Given the description of an element on the screen output the (x, y) to click on. 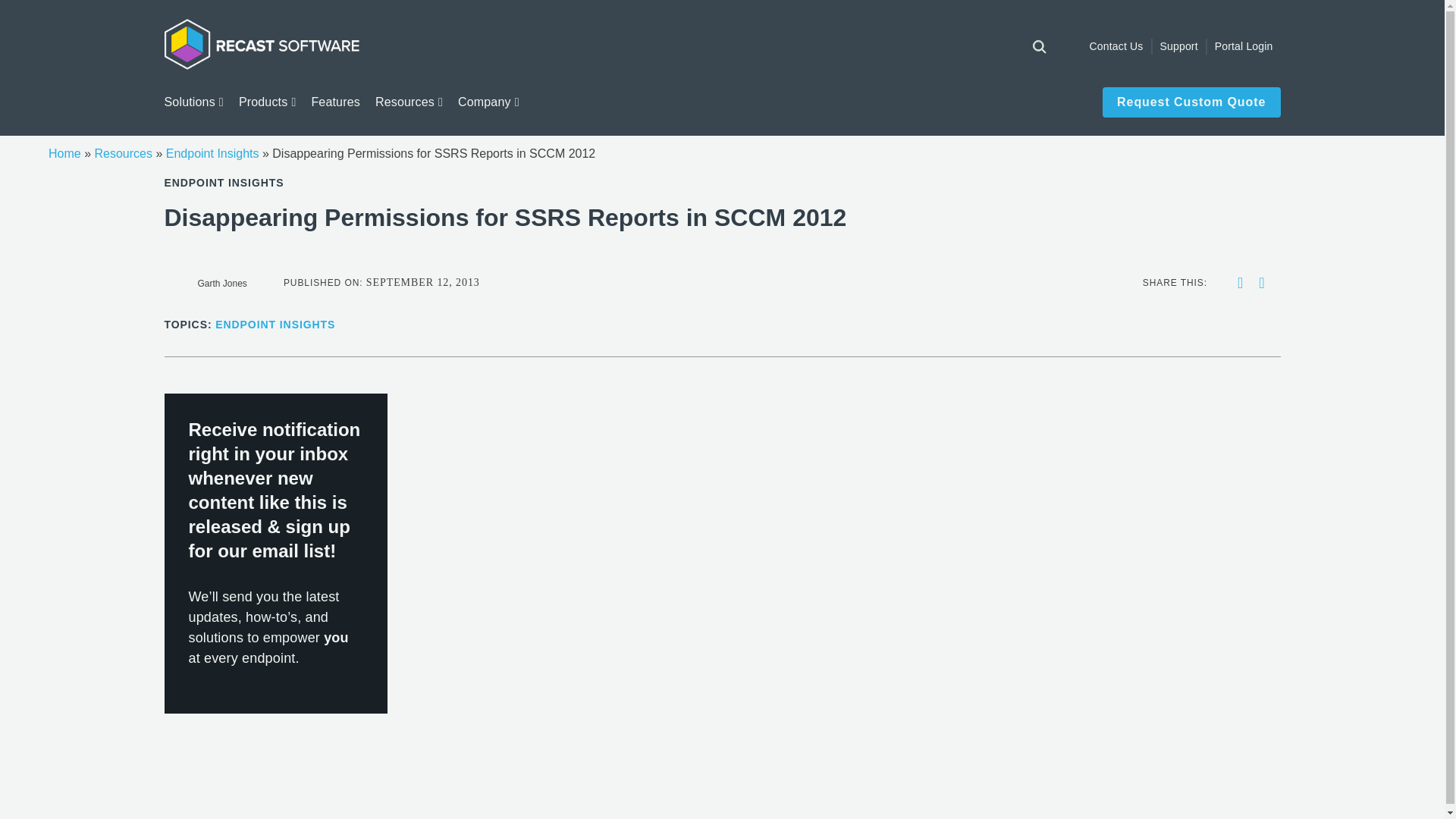
Support (1179, 46)
Request Custom Quote (1191, 101)
Contact Us (1115, 46)
Recast Software logo (260, 43)
Features (335, 101)
Portal Login (1243, 46)
Request Custom Quote (1191, 101)
Support (1179, 46)
Contact Us (1115, 46)
Features (335, 101)
Portal Login (1243, 46)
Search (24, 9)
